Given the description of an element on the screen output the (x, y) to click on. 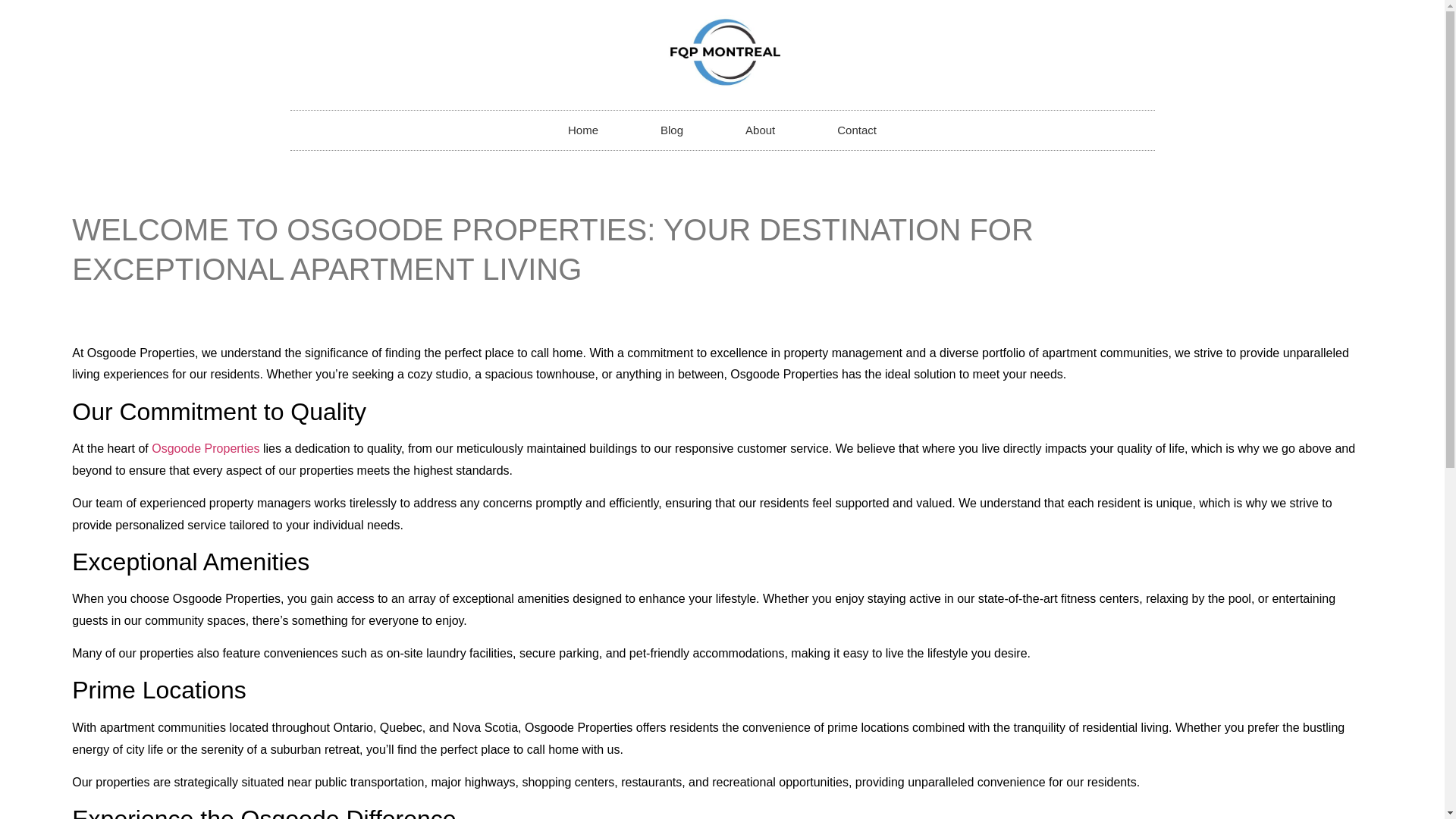
Home (582, 129)
Contact (856, 129)
Osgoode Properties (205, 448)
About (760, 129)
Blog (671, 129)
